Given the description of an element on the screen output the (x, y) to click on. 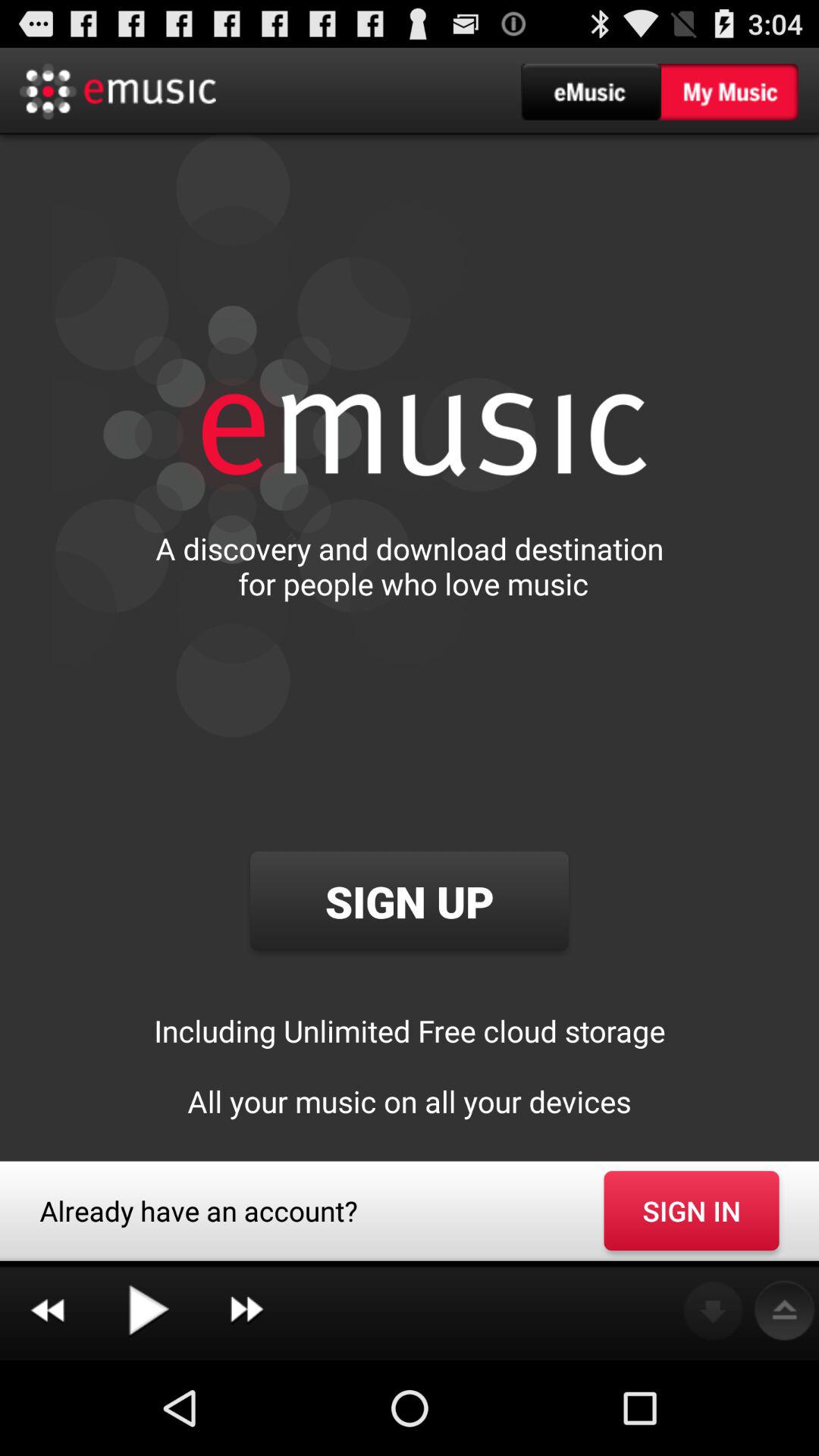
tap sign in (691, 1210)
